Given the description of an element on the screen output the (x, y) to click on. 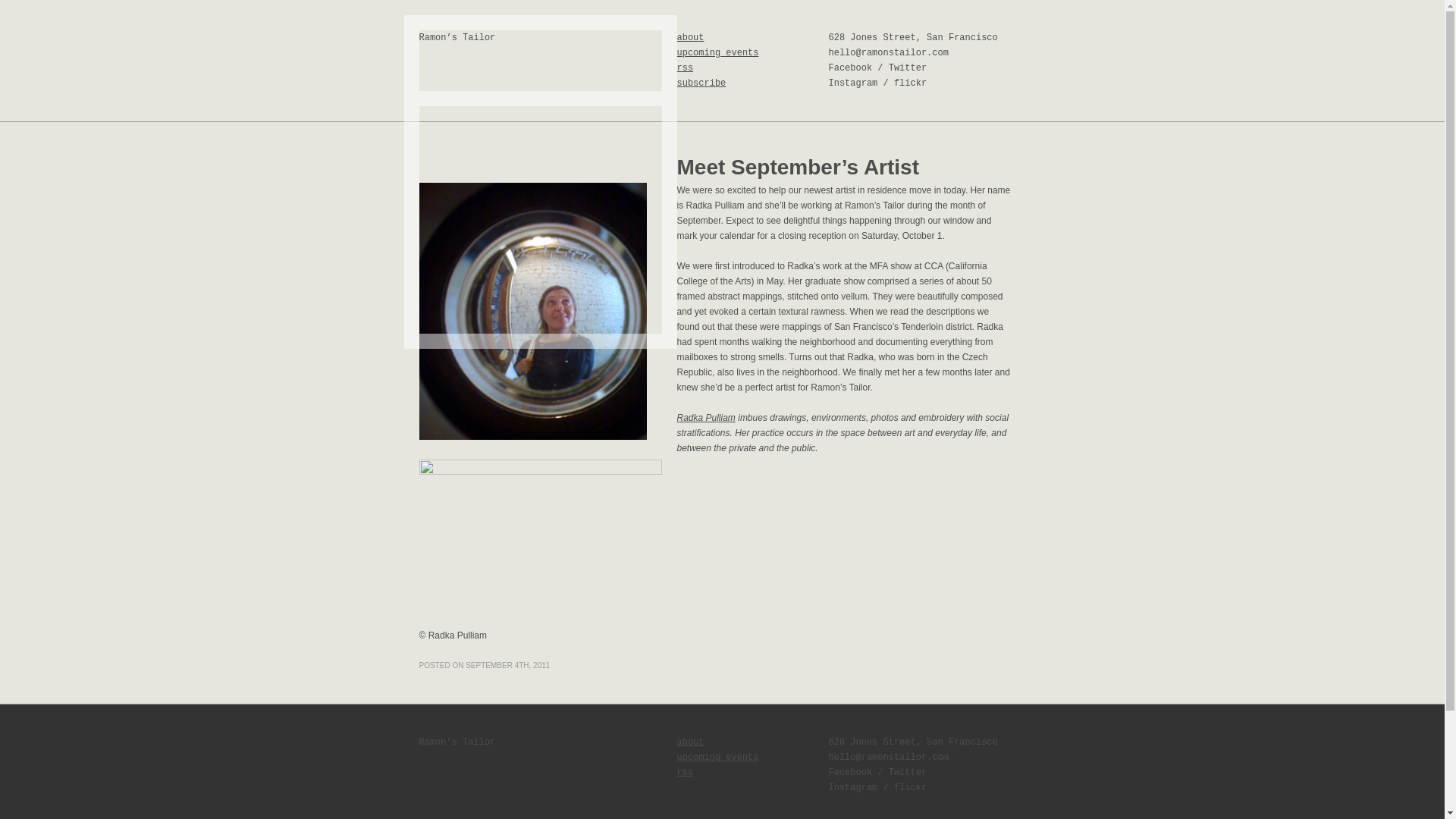
Instagram (852, 82)
Facebook (850, 68)
Twitter (907, 68)
Facebook (850, 772)
628 Jones Street, San Francisco (912, 37)
Radka Pulliam (706, 417)
walk grid detail (540, 543)
upcoming events (717, 757)
rss (685, 772)
flickr (909, 82)
